Given the description of an element on the screen output the (x, y) to click on. 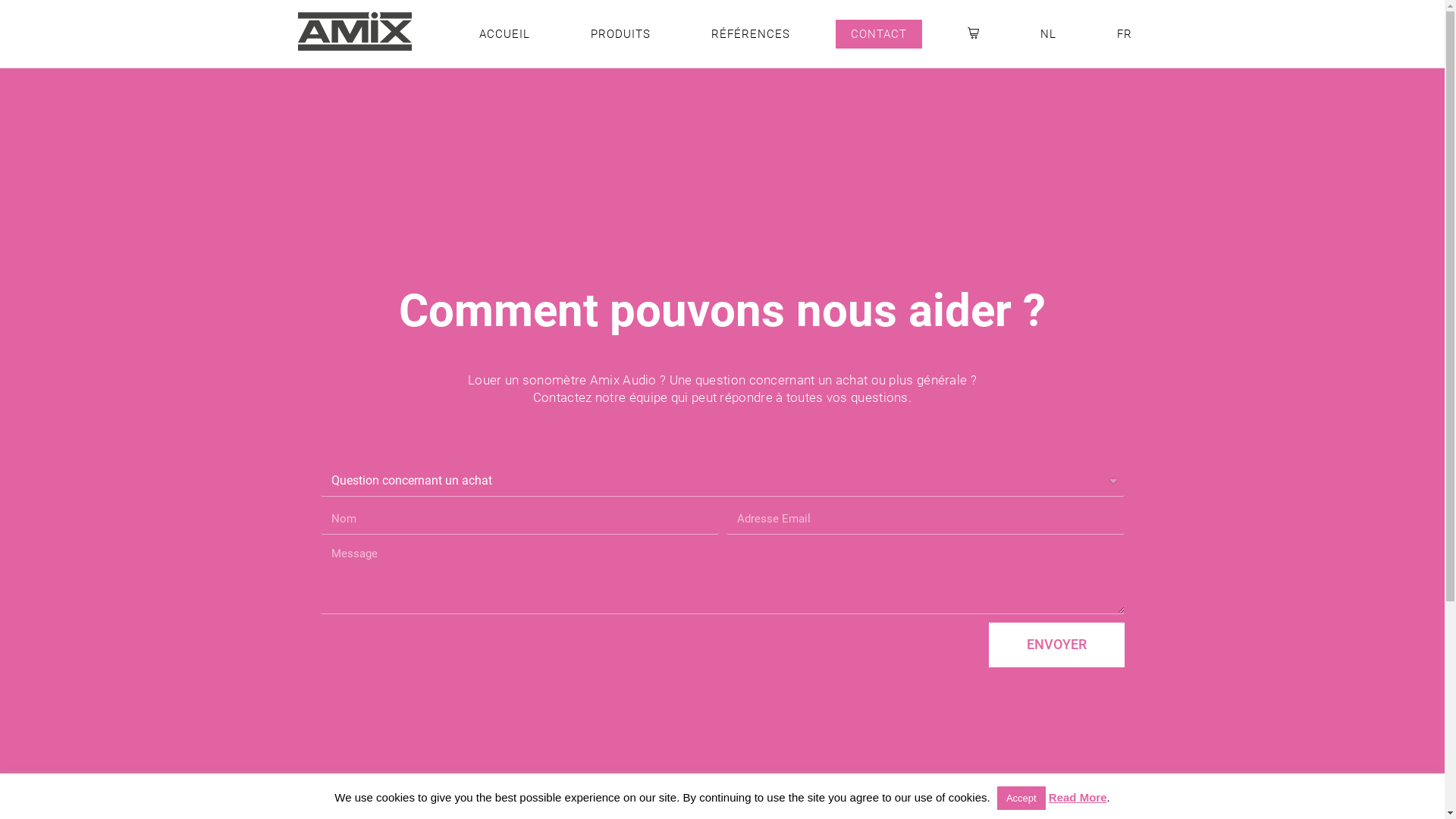
Accept Element type: text (1021, 797)
ACCUEIL Element type: text (504, 33)
Read More Element type: text (1077, 796)
CONTACT Element type: text (878, 33)
PRODUITS Element type: text (619, 33)
ENVOYER Element type: text (1056, 644)
FR Element type: text (1123, 33)
NL Element type: text (1048, 33)
